Given the description of an element on the screen output the (x, y) to click on. 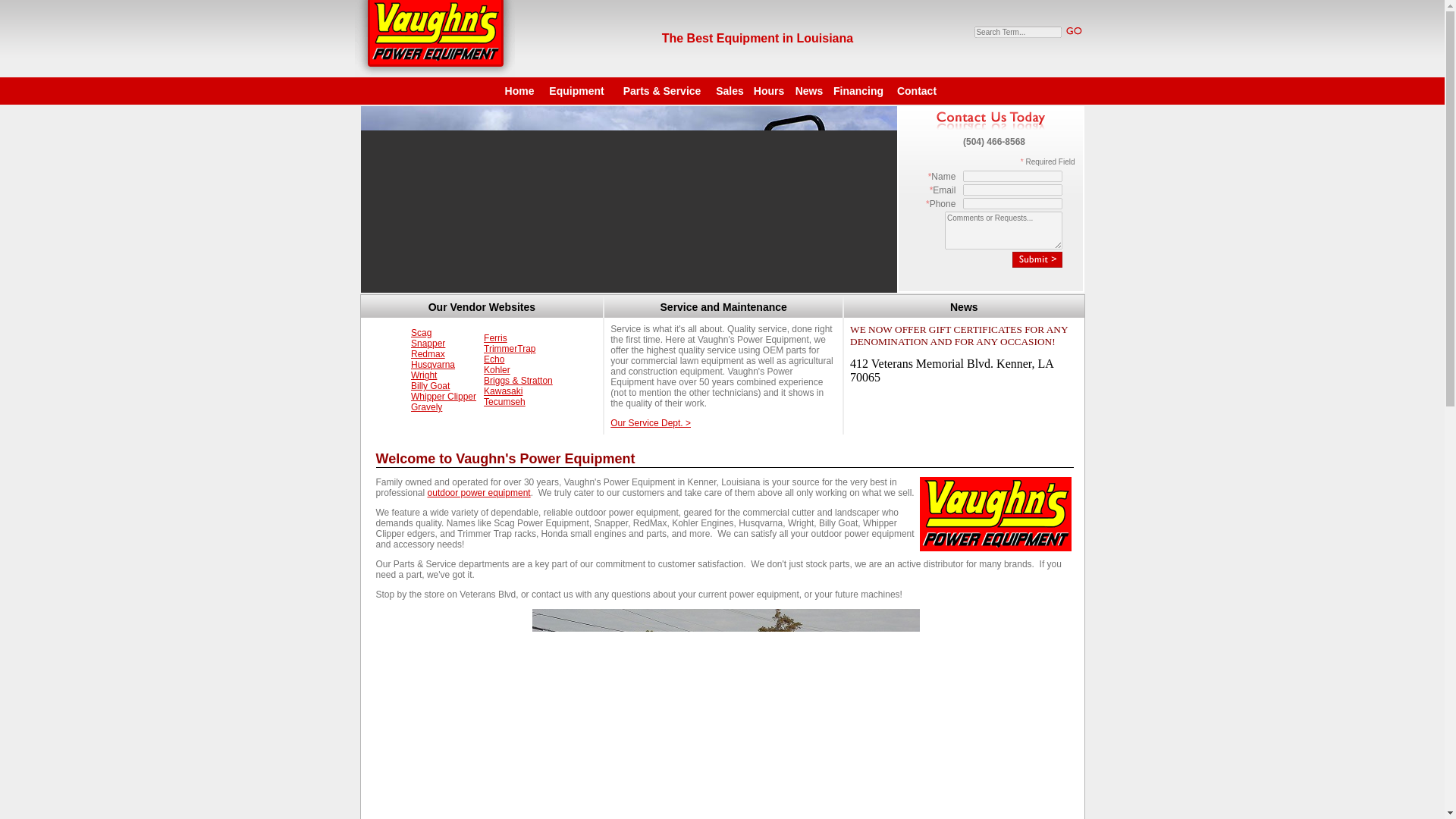
TrimmerTrap (509, 348)
Scag (420, 332)
Redmax (427, 353)
Gravely (426, 407)
Wright (423, 375)
Snapper (427, 343)
Ferris (494, 337)
Whipper Clipper (443, 396)
Search Term... (1017, 30)
Kohler (497, 369)
Echo (493, 358)
Kawasaki (502, 390)
outdoor power equipment (479, 492)
Tecumseh (504, 401)
Billy Goat (429, 385)
